Given the description of an element on the screen output the (x, y) to click on. 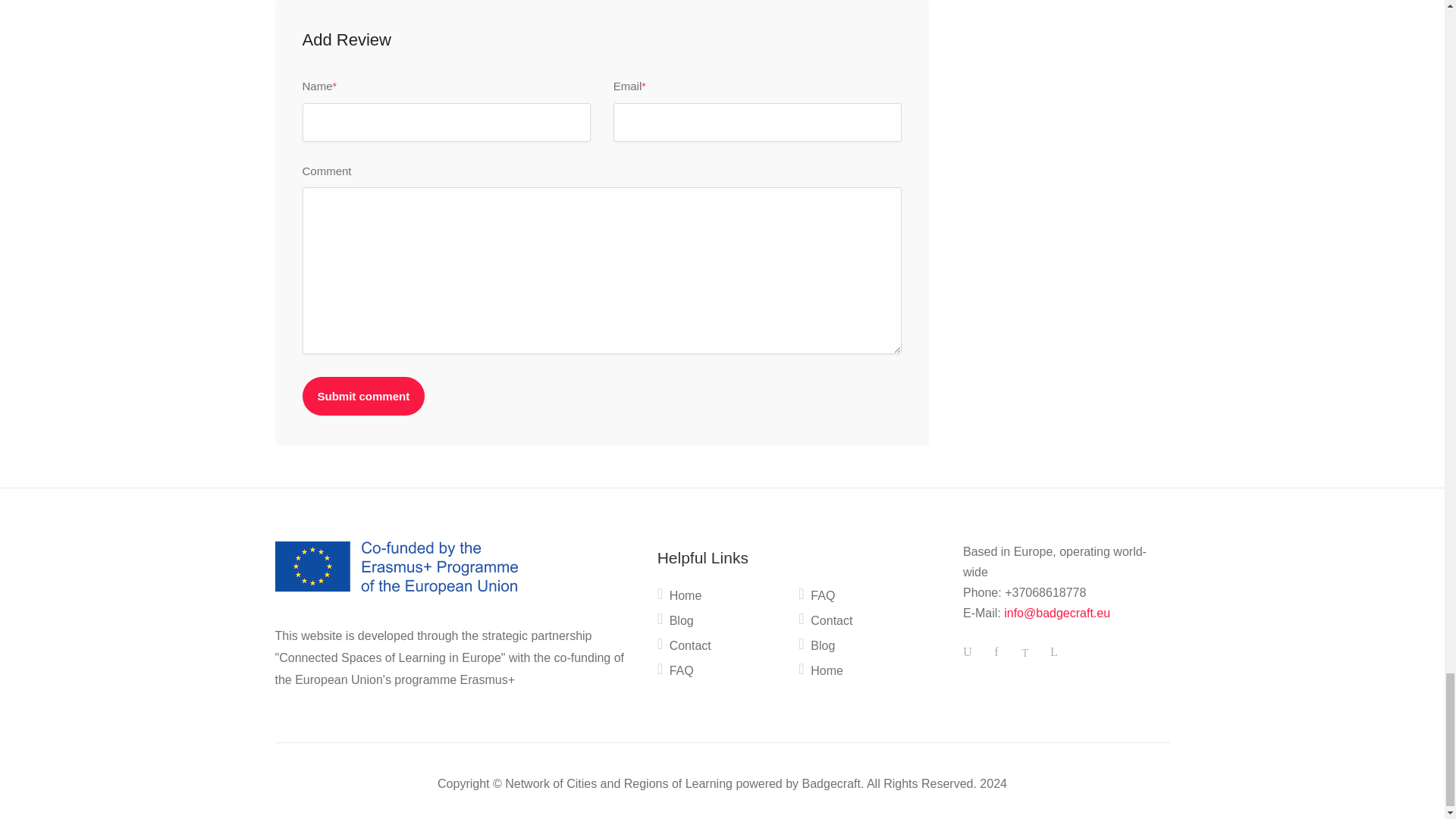
FAQ (676, 673)
Submit comment (363, 395)
Submit comment (363, 395)
FAQ (815, 599)
Home (679, 599)
Contact (684, 649)
Blog (676, 623)
